Given the description of an element on the screen output the (x, y) to click on. 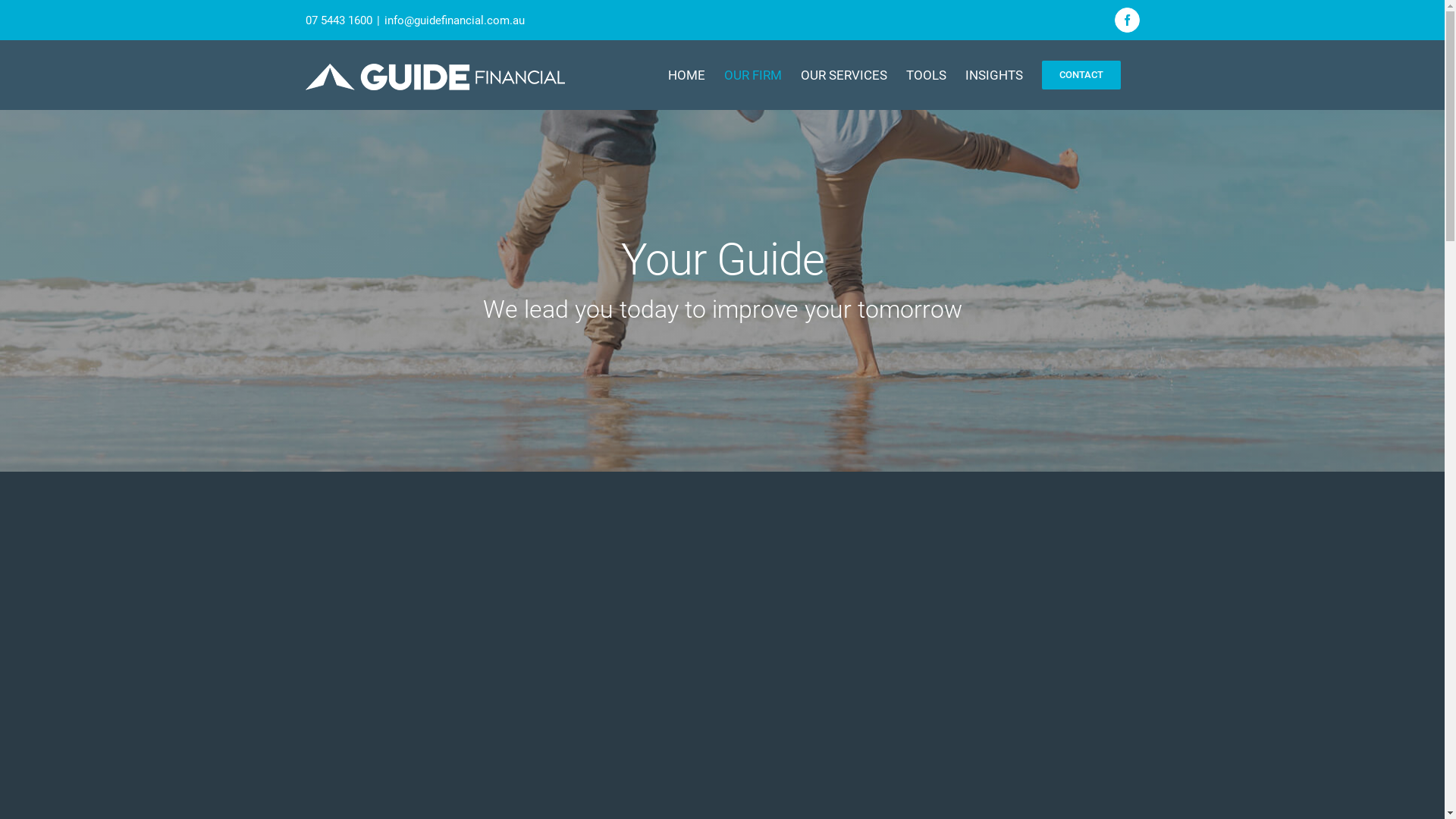
info@guidefinancial.com.au Element type: text (453, 20)
HOME Element type: text (685, 74)
Facebook Element type: text (1126, 19)
TOOLS Element type: text (925, 74)
OUR SERVICES Element type: text (843, 74)
OUR FIRM Element type: text (752, 74)
CONTACT Element type: text (1080, 74)
INSIGHTS Element type: text (993, 74)
